Given the description of an element on the screen output the (x, y) to click on. 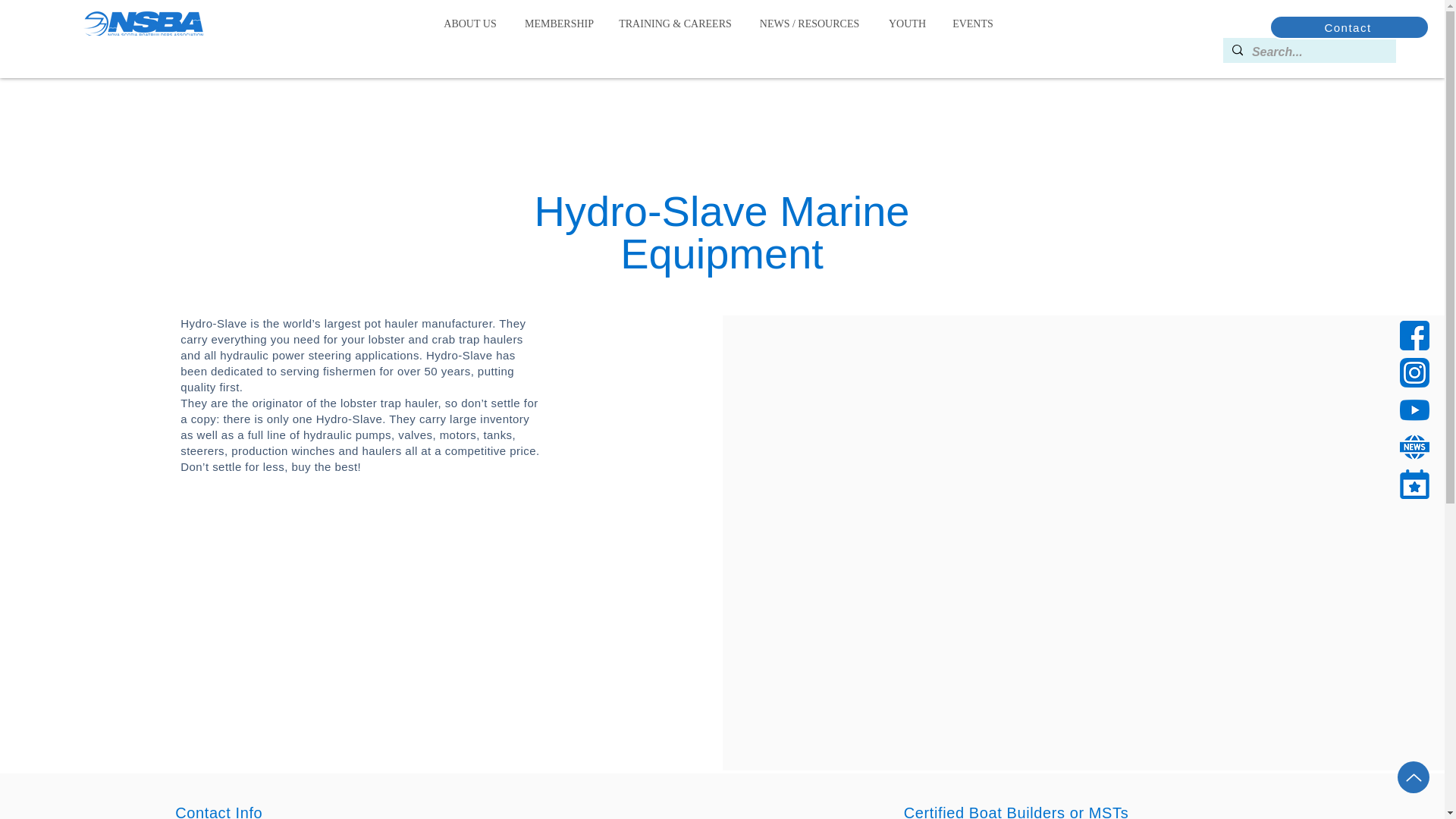
YOUTH (907, 23)
Contact (1349, 27)
ABOUT US (470, 23)
EVENTS (972, 23)
